Given the description of an element on the screen output the (x, y) to click on. 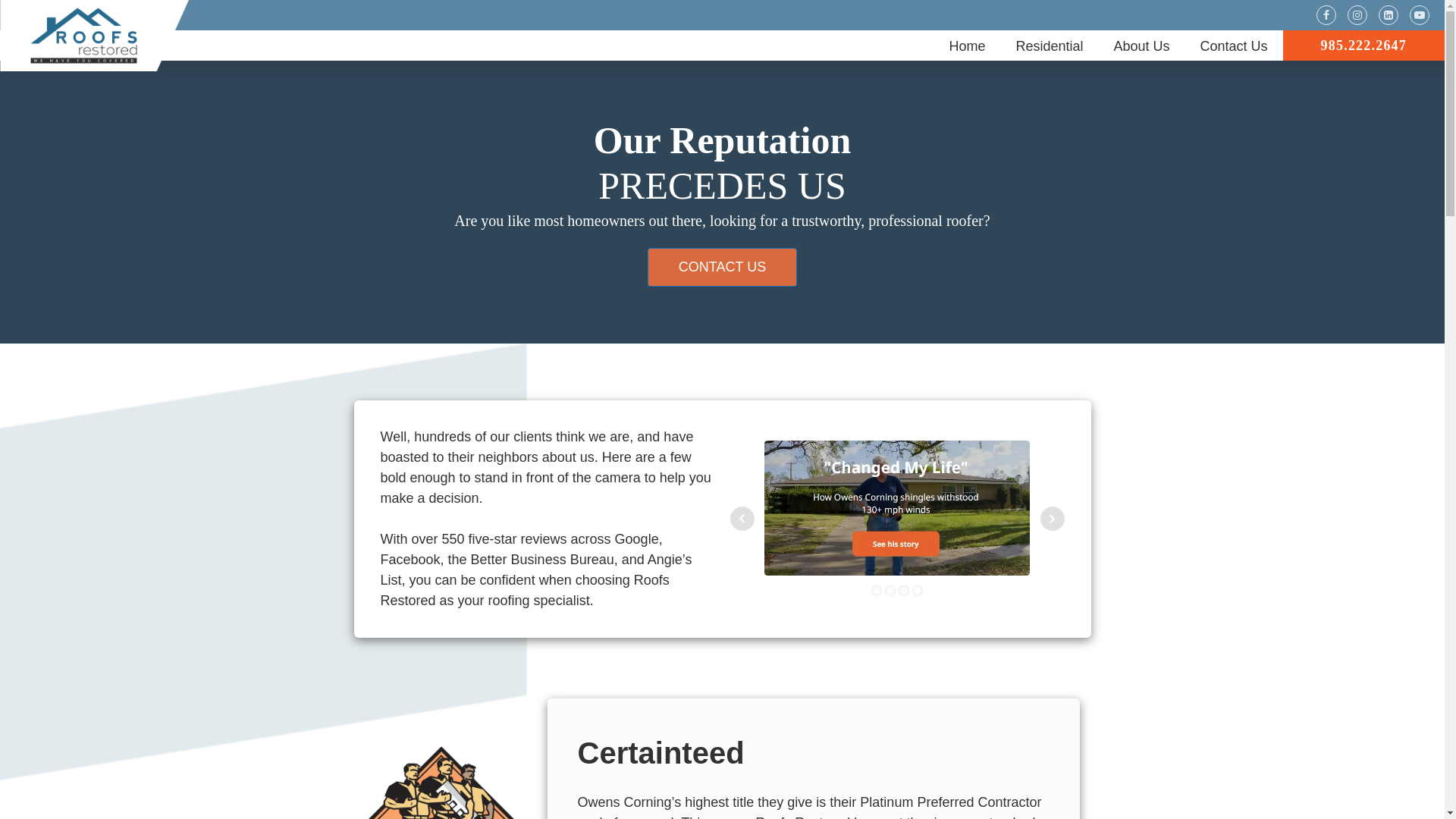
Home (966, 46)
CONTACT US (721, 267)
Prev (741, 518)
Next (1052, 518)
About Us (1141, 46)
Residential (1048, 46)
Contact Us (1233, 46)
